Given the description of an element on the screen output the (x, y) to click on. 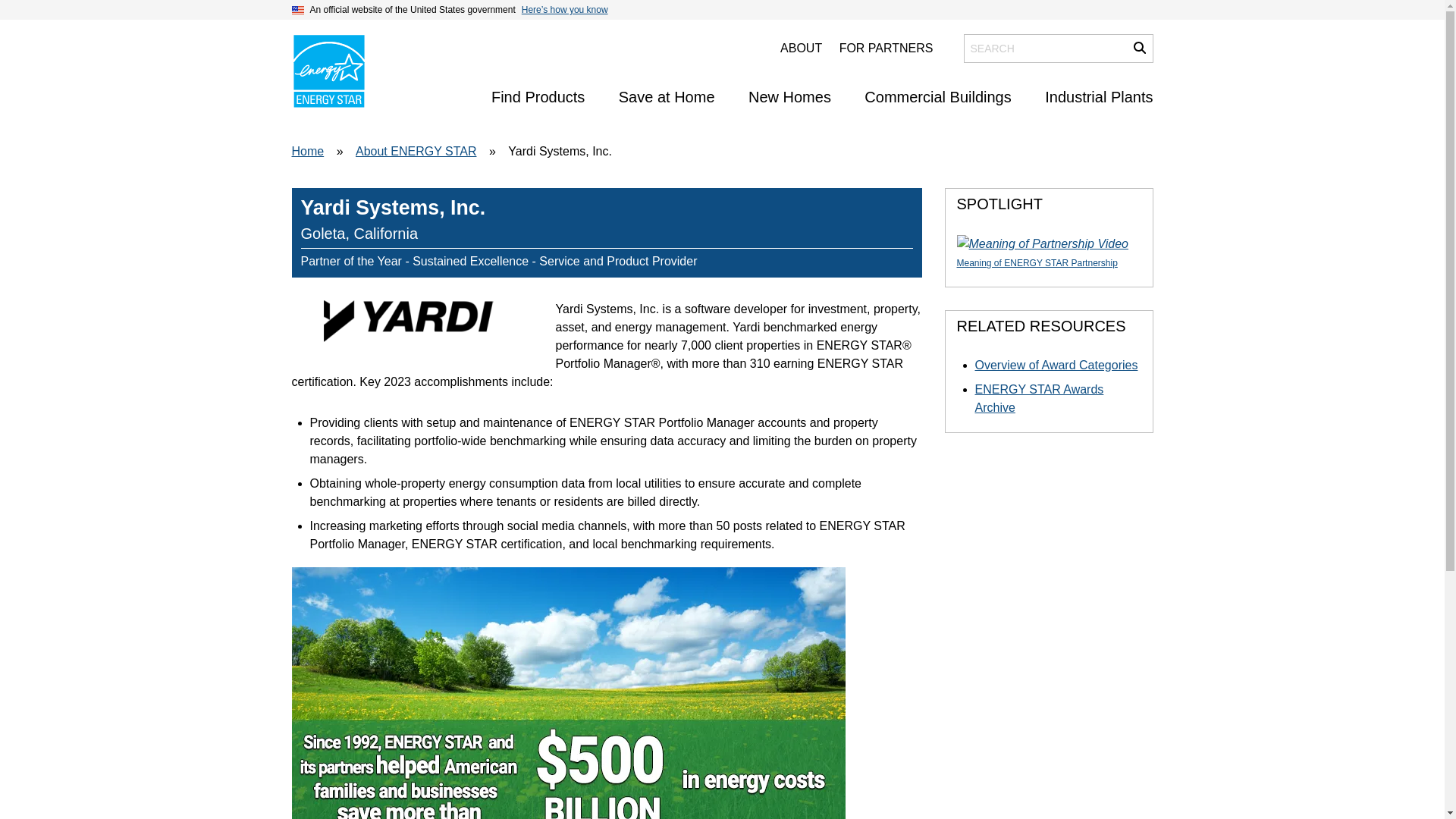
Commercial Buildings (937, 96)
ABOUT (801, 47)
Submit Search (1139, 47)
New Homes (789, 96)
Home (328, 70)
ENERGY STAR (328, 70)
FOR PARTNERS (886, 47)
Industrial Plants (1099, 96)
Save at Home (666, 96)
Skip to main content (721, 14)
Find Products (538, 96)
